Given the description of an element on the screen output the (x, y) to click on. 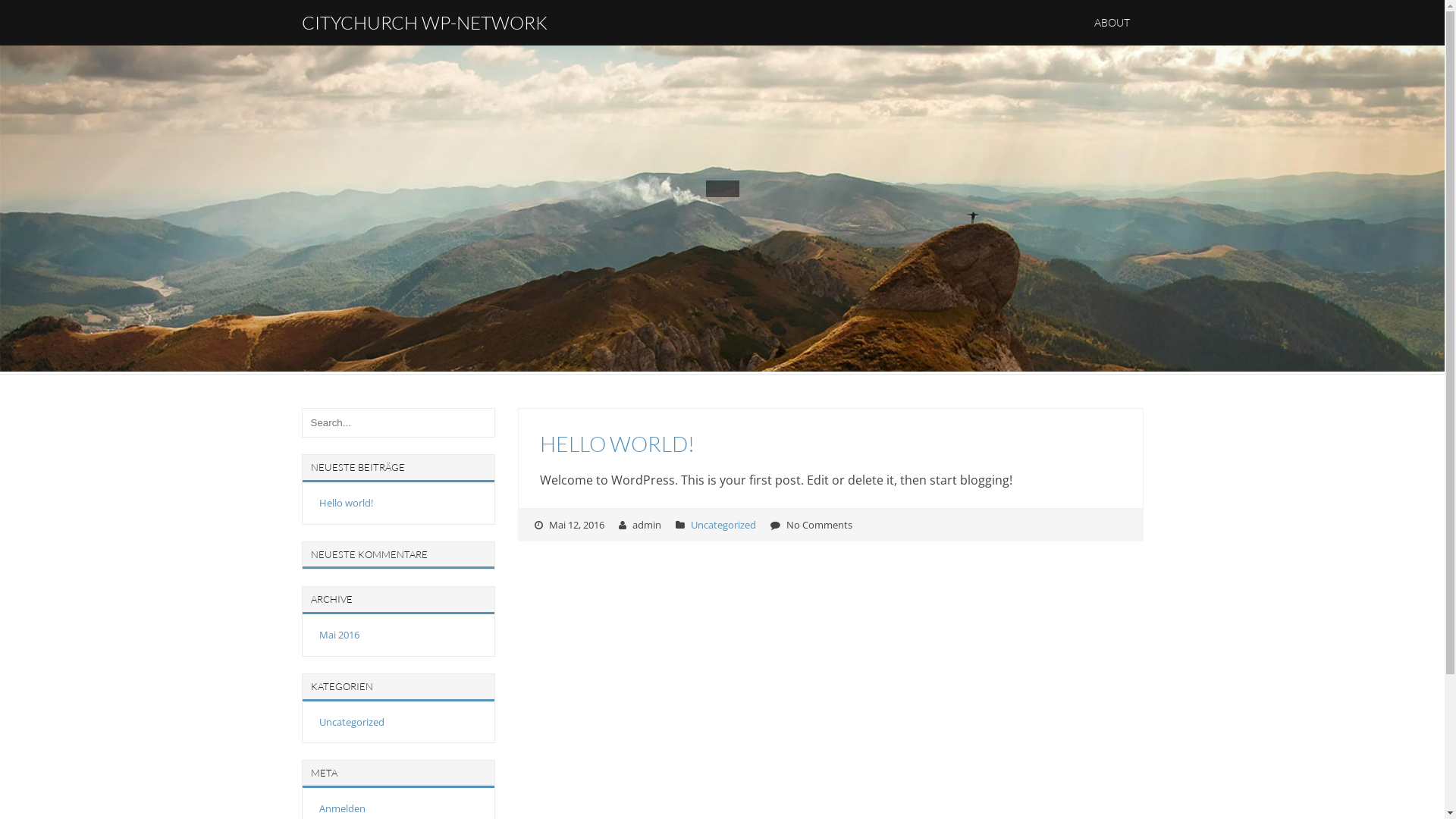
Mai 2016 Element type: text (338, 634)
HELLO WORLD! Element type: text (616, 443)
Mai 12, 2016 Element type: text (576, 523)
Uncategorized Element type: text (350, 721)
Anmelden Element type: text (341, 808)
ABOUT Element type: text (1110, 22)
Uncategorized Element type: text (722, 523)
Hello world! Element type: text (345, 502)
CITYCHURCH WP-NETWORK Element type: text (424, 22)
Search Element type: text (35, 14)
